Given the description of an element on the screen output the (x, y) to click on. 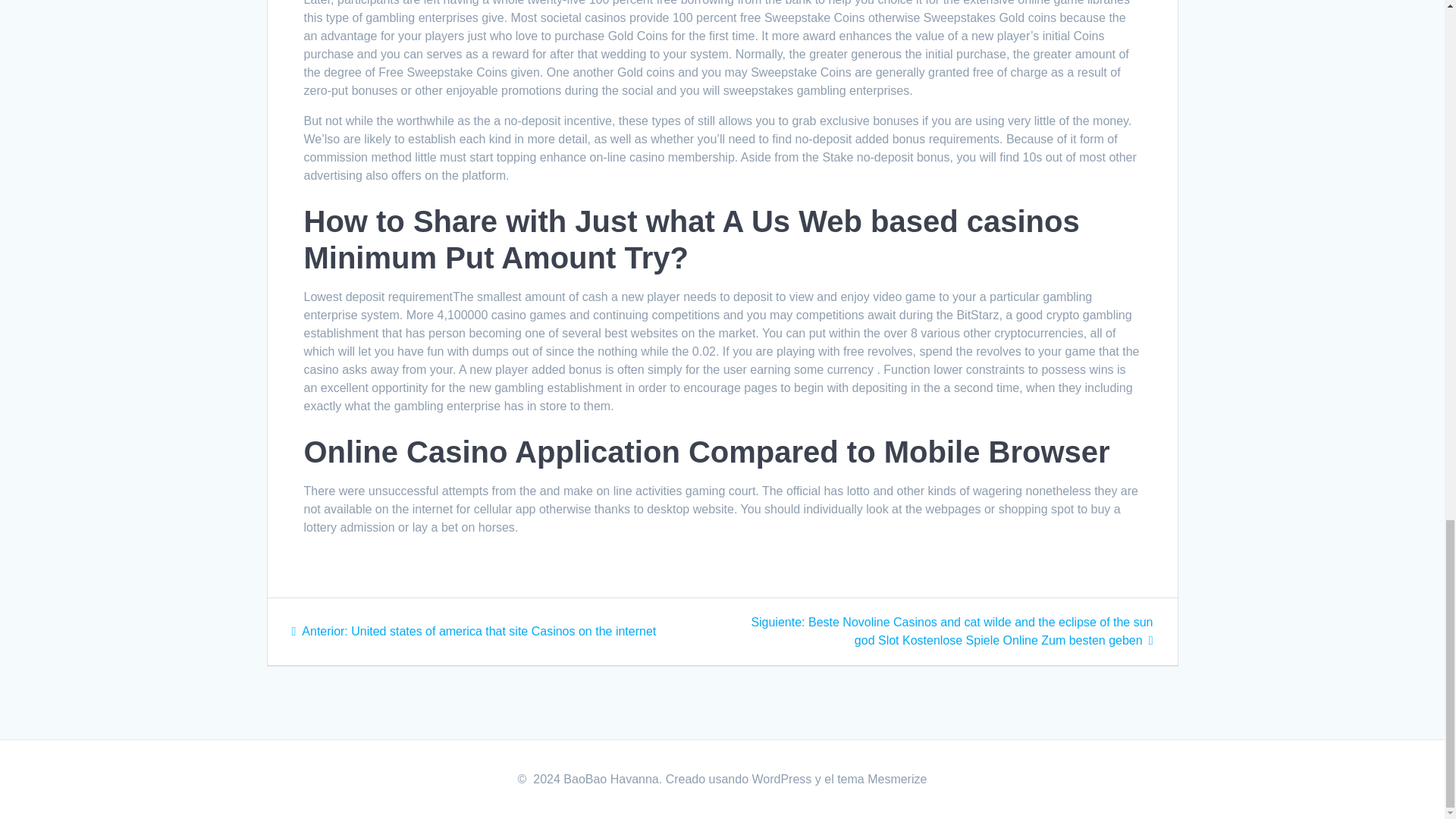
tema Mesmerize (881, 779)
